Given the description of an element on the screen output the (x, y) to click on. 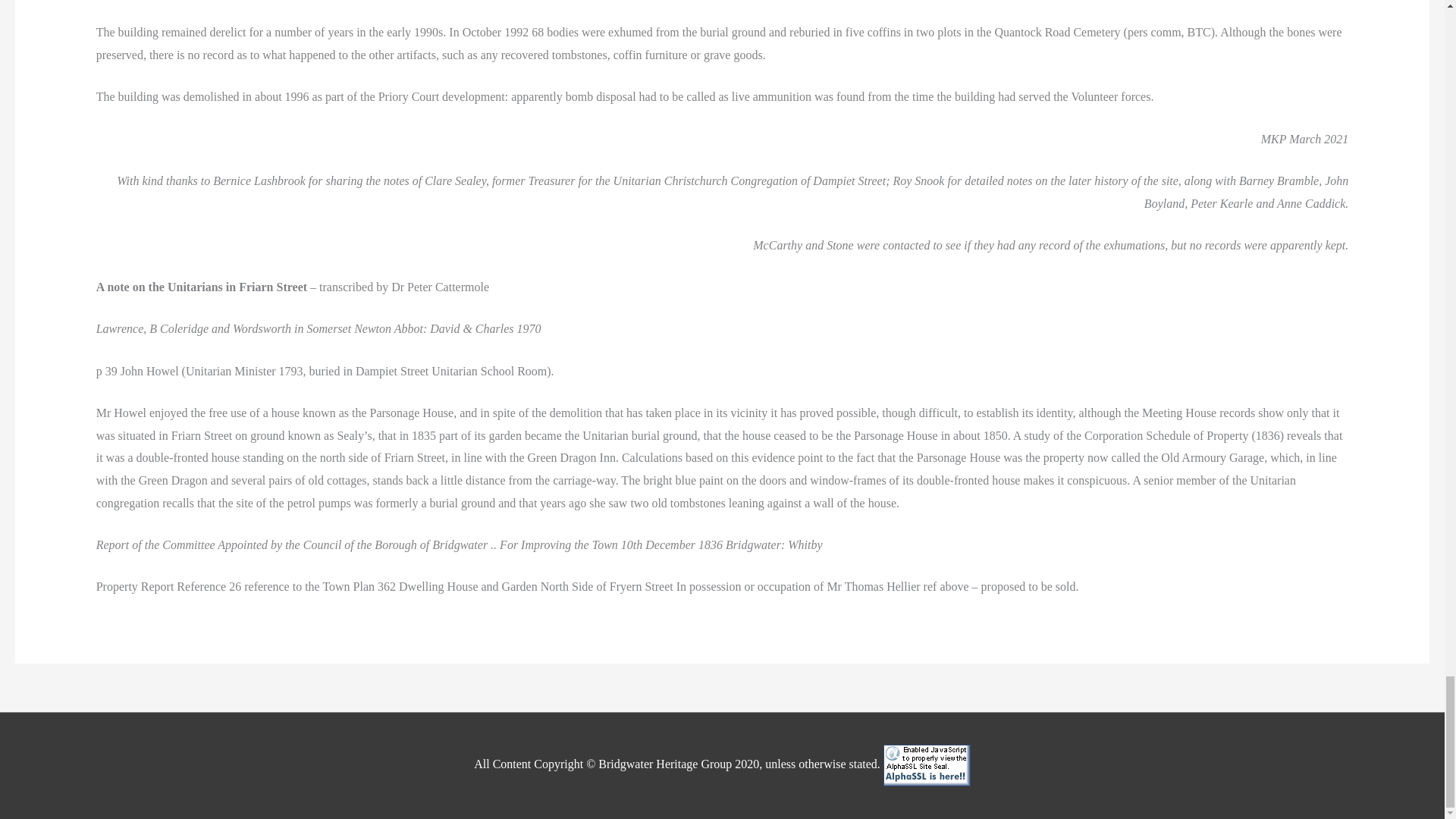
SSL Certificate (927, 765)
SSL Certificates (927, 763)
